Given the description of an element on the screen output the (x, y) to click on. 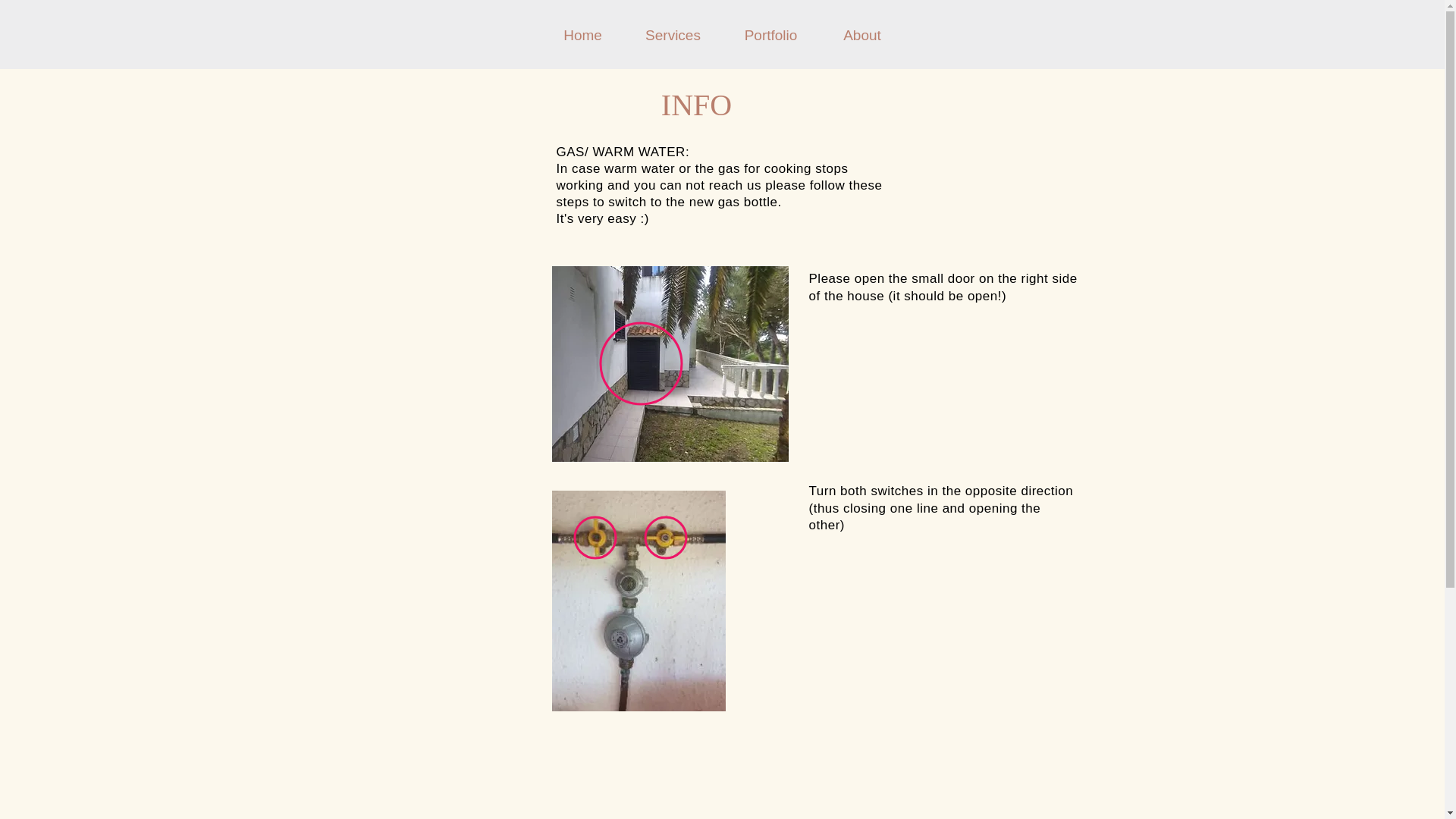
Portfolio (771, 35)
About (862, 35)
Home (582, 35)
